Given the description of an element on the screen output the (x, y) to click on. 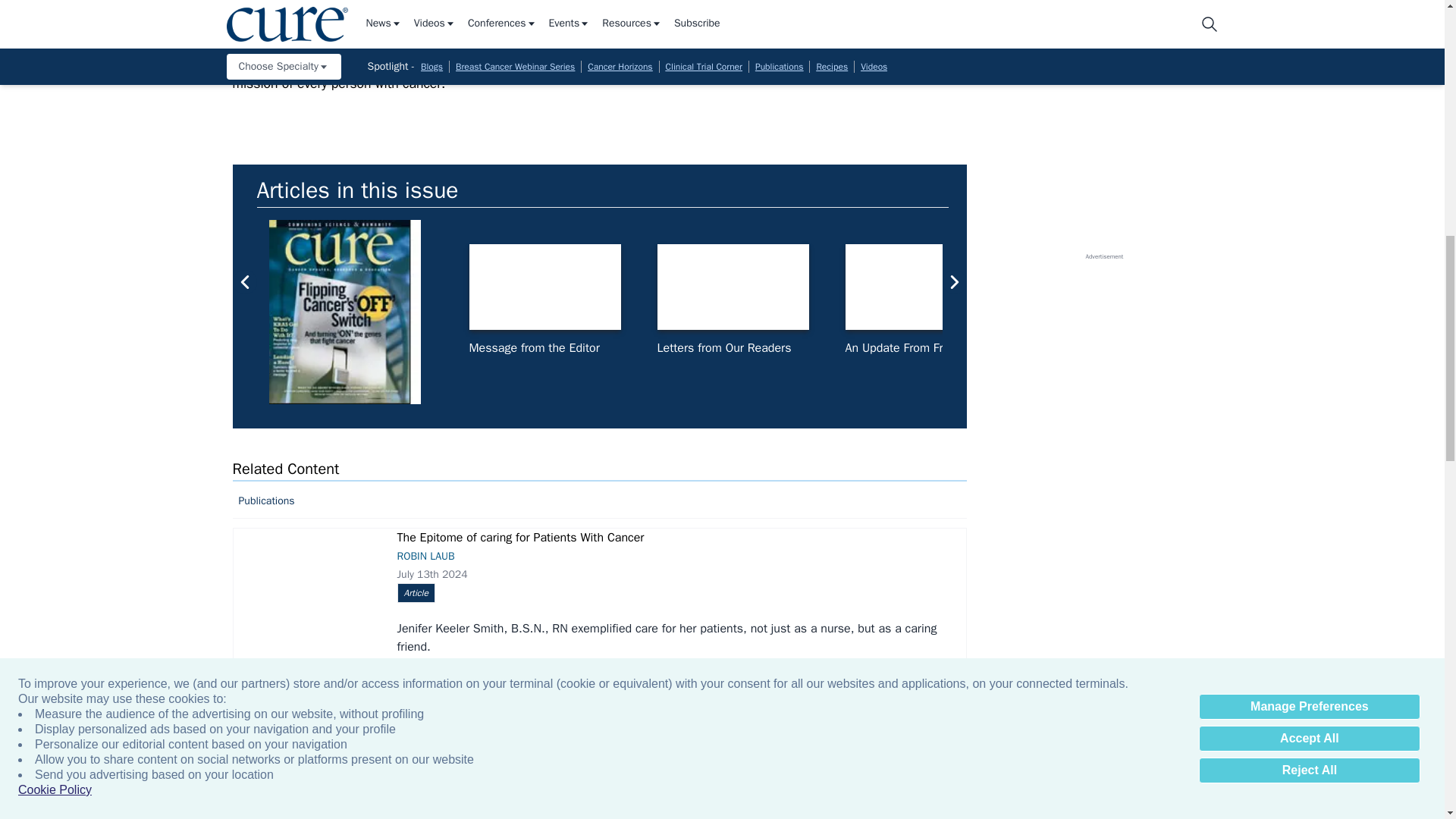
Image of two women sitting on a bench outside. (305, 607)
